Given the description of an element on the screen output the (x, y) to click on. 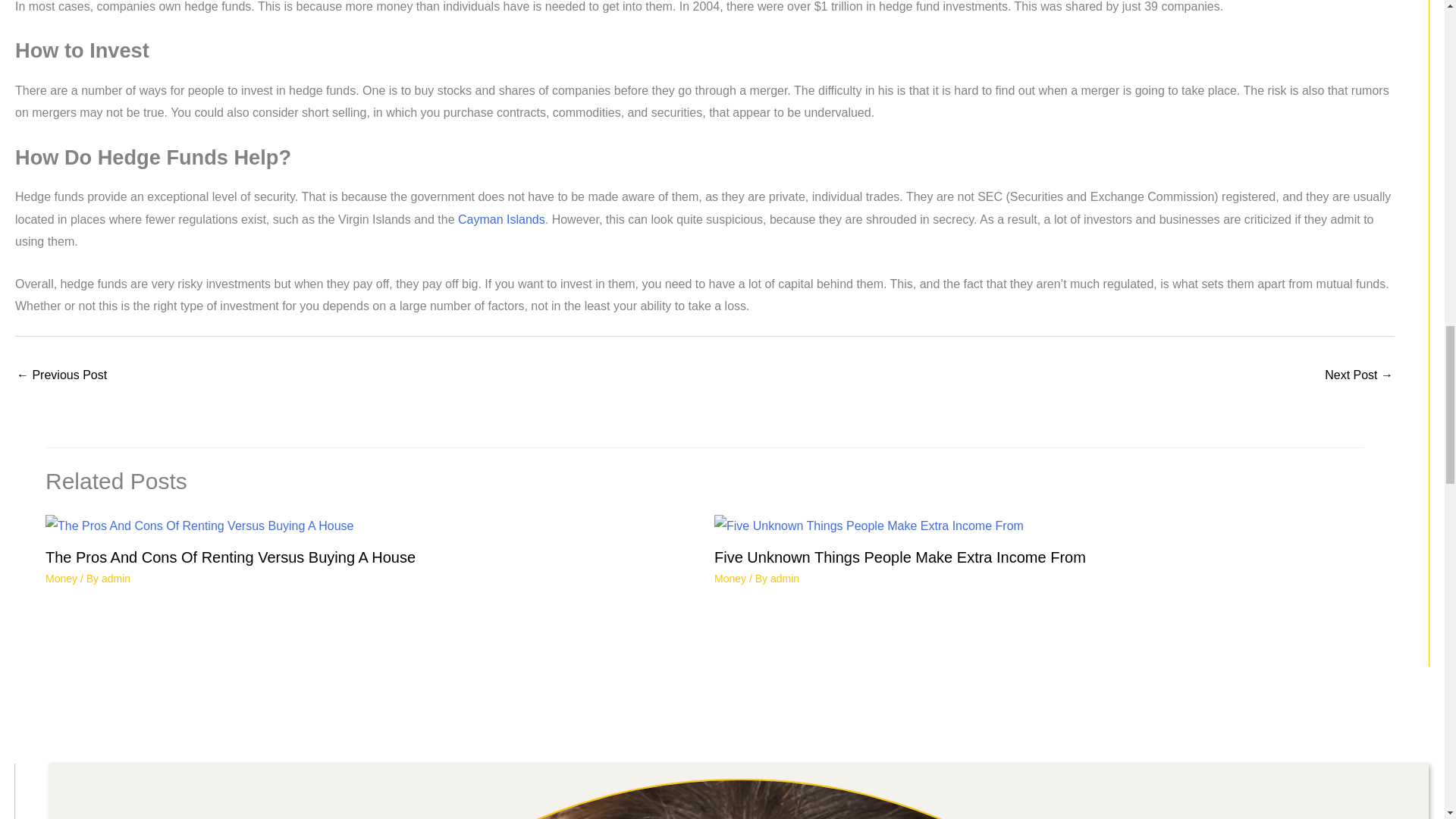
Five Unknown Things People Make Extra Income From (900, 556)
admin (116, 578)
Money (61, 578)
The Pros And Cons Of Renting Versus Buying A House (229, 556)
Cayman Islands (501, 219)
View all posts by admin (784, 578)
Money (729, 578)
admin (784, 578)
